Given the description of an element on the screen output the (x, y) to click on. 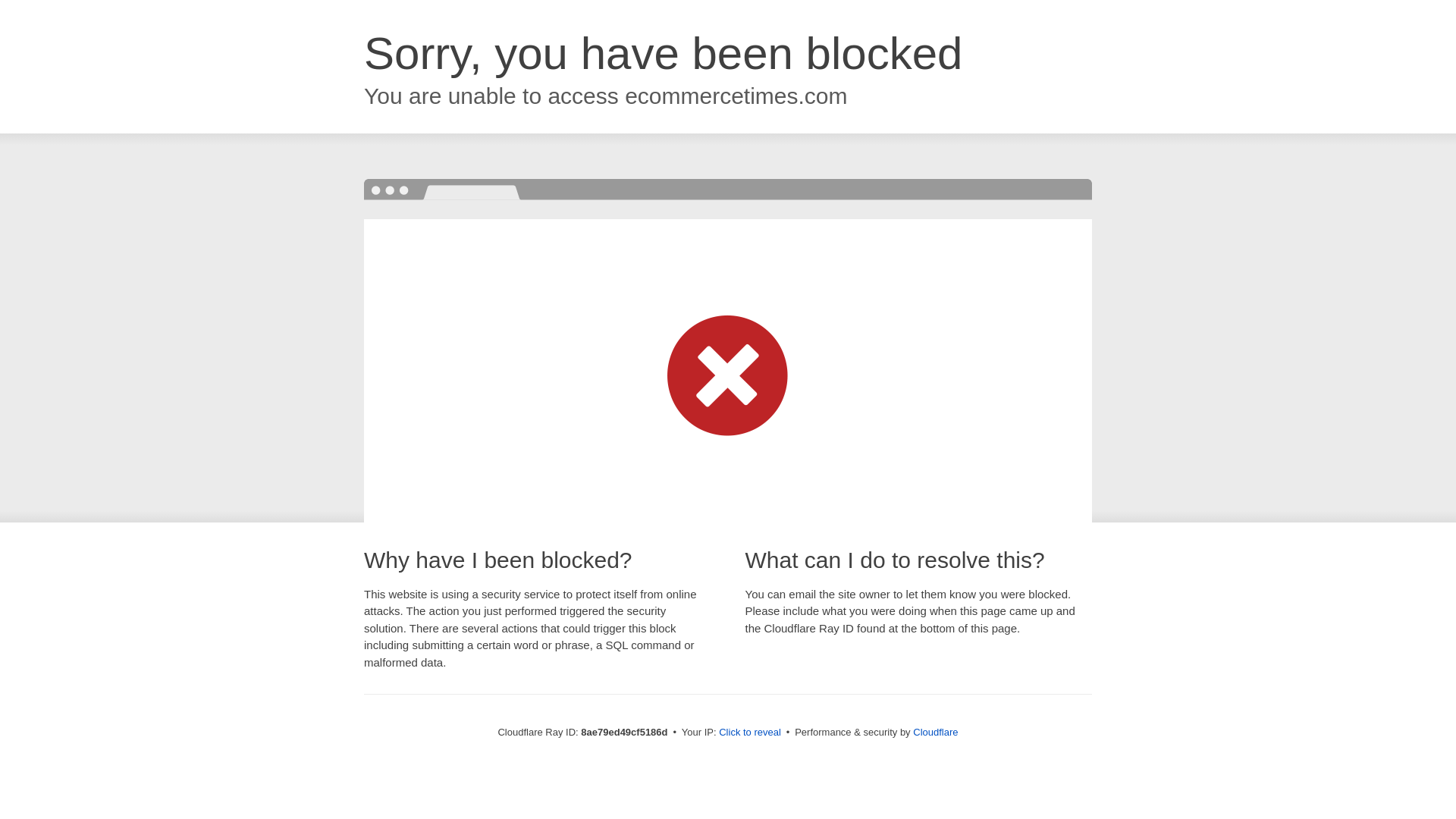
Cloudflare (935, 731)
Click to reveal (749, 732)
